Given the description of an element on the screen output the (x, y) to click on. 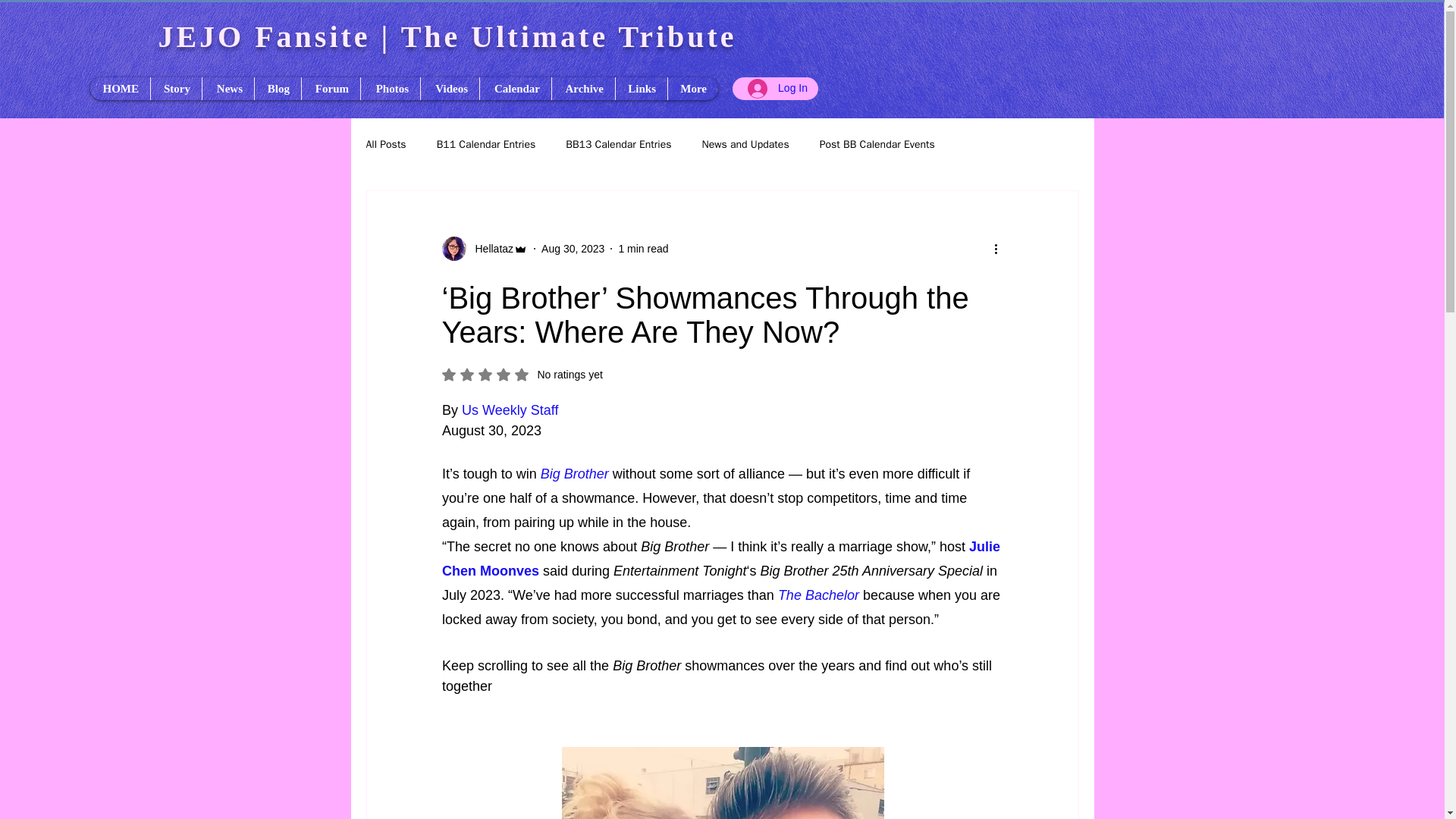
Us Weekly Staff (509, 409)
Forum (330, 87)
Hellataz (489, 248)
The Bachelor (818, 595)
1 min read (642, 248)
News (227, 87)
Big Brother (574, 473)
Story (521, 374)
Hellataz (175, 87)
Videos (484, 248)
Photos (449, 87)
Links (389, 87)
Blog (640, 87)
All Posts (277, 87)
